Given the description of an element on the screen output the (x, y) to click on. 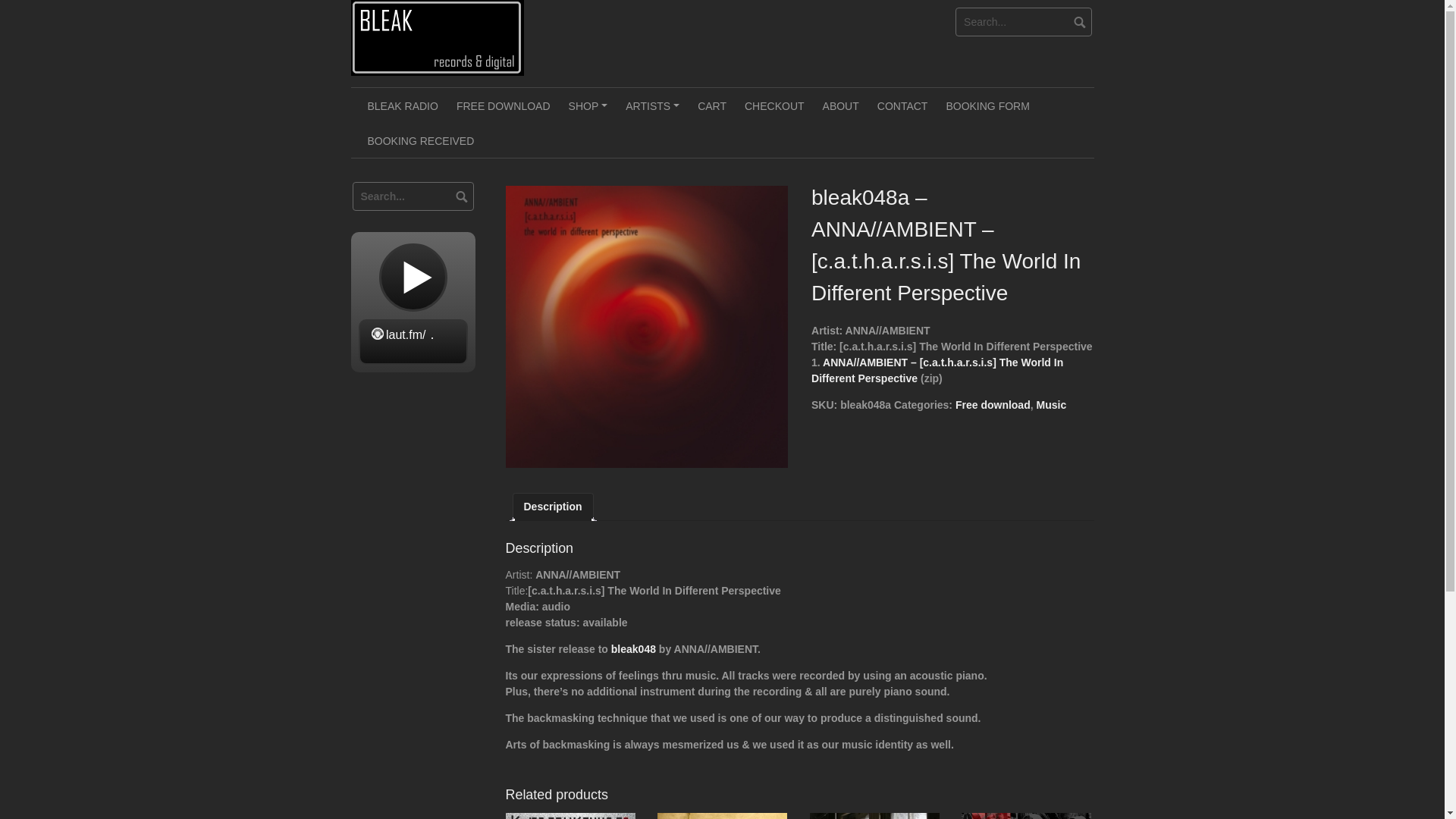
BOOKING RECEIVED (420, 140)
FREE DOWNLOAD (502, 104)
BOOKING FORM (987, 104)
BLEAK RADIO (402, 104)
ABOUT (840, 104)
Music (1050, 404)
Free download (992, 404)
CONTACT (902, 104)
CHECKOUT (774, 104)
CART (711, 104)
bleak048 (633, 648)
bleak048a.jpg (646, 326)
Search for: (412, 195)
Search for: (1023, 21)
Description (551, 506)
